Given the description of an element on the screen output the (x, y) to click on. 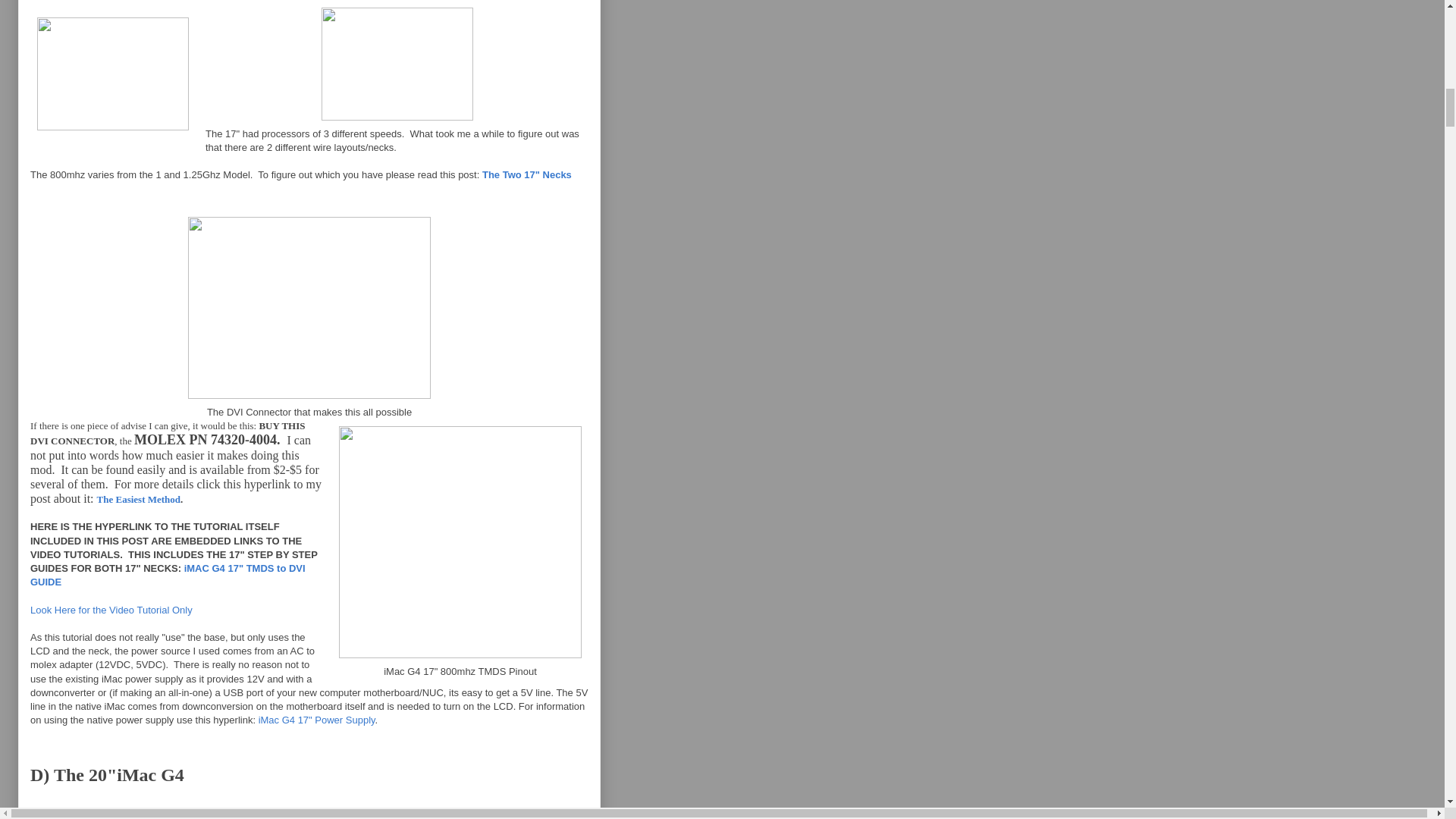
The Easiest Method (138, 499)
The Two 17" Necks (526, 174)
iMac G4 17" Power Supply (317, 719)
Look Here for the Video Tutorial Only (111, 609)
iMAC G4 17" TMDS to DVI GUIDE (167, 575)
